Given the description of an element on the screen output the (x, y) to click on. 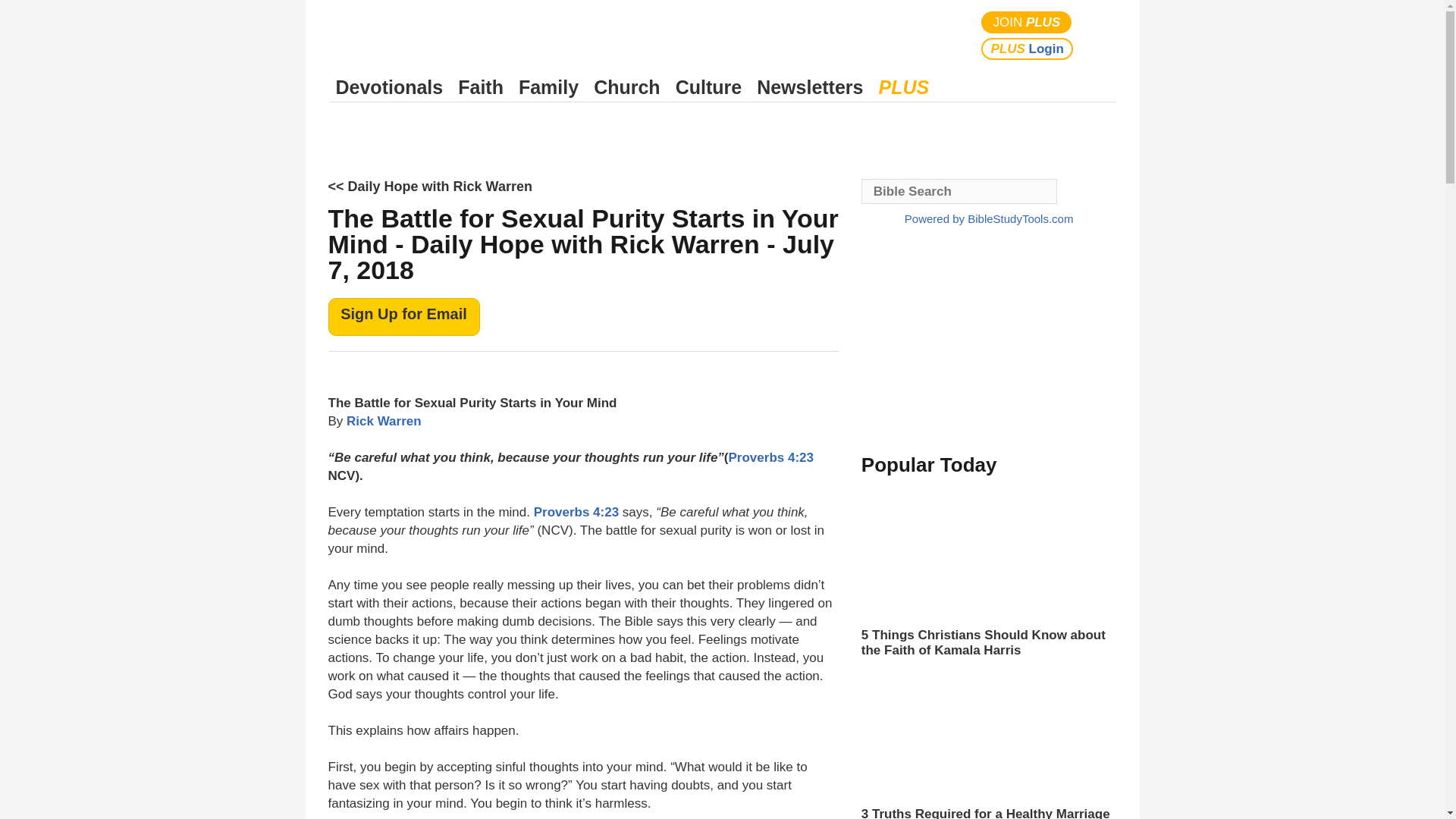
JOIN PLUS (1026, 22)
Devotionals (389, 87)
PLUS Login (1026, 48)
Faith (481, 87)
Search (1101, 34)
Join Plus (1026, 22)
Family (548, 87)
Plus Login (1026, 48)
